Given the description of an element on the screen output the (x, y) to click on. 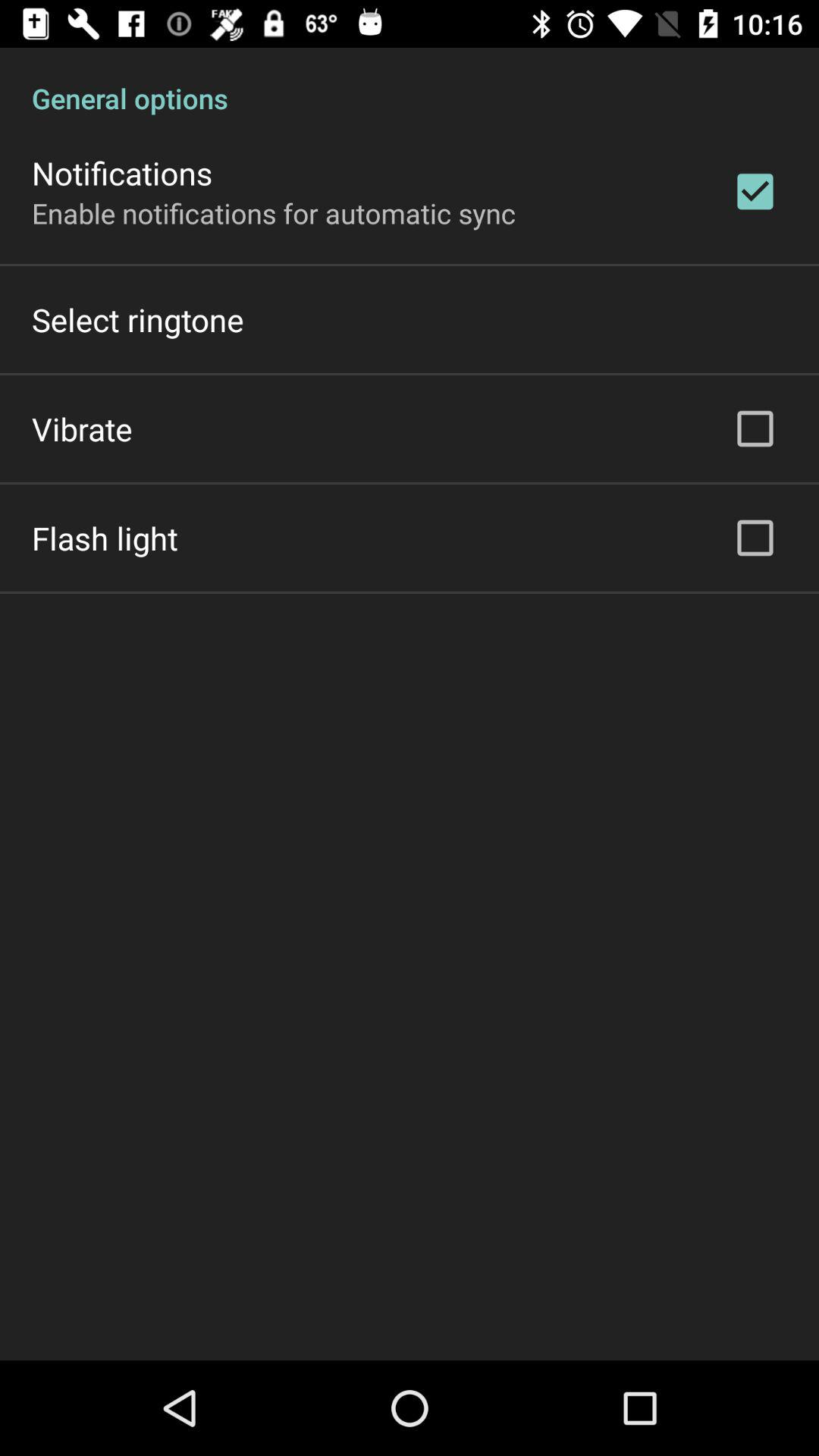
flip to vibrate item (81, 428)
